Given the description of an element on the screen output the (x, y) to click on. 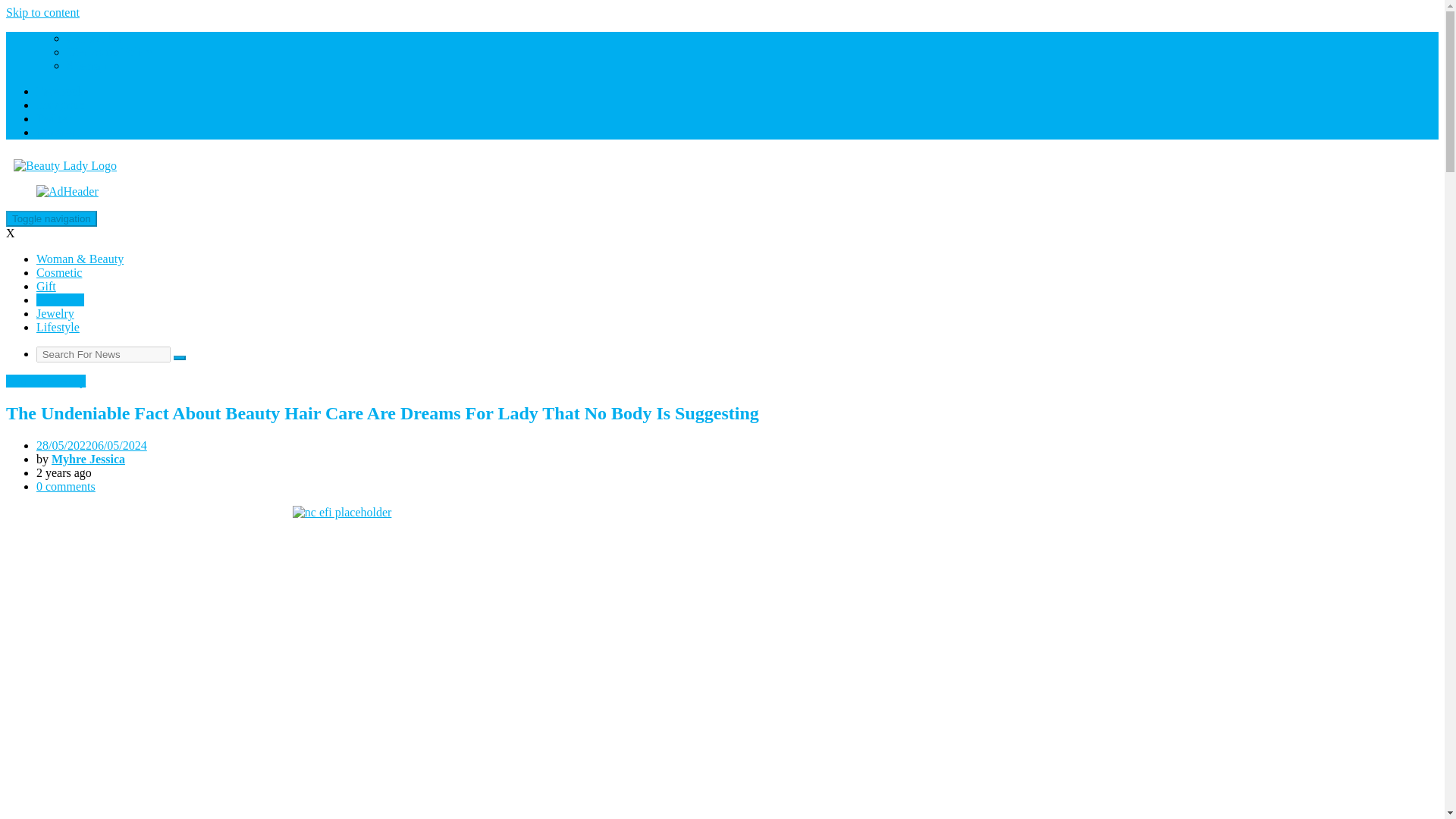
Facebook (59, 91)
Disclosure Policy (109, 51)
Cosmetic (58, 272)
Lifestyle (58, 327)
Jewelry (55, 313)
Contact Us (93, 38)
Twitter (53, 118)
0 comments (66, 486)
Skip to content (42, 11)
Sitemap (86, 65)
